Given the description of an element on the screen output the (x, y) to click on. 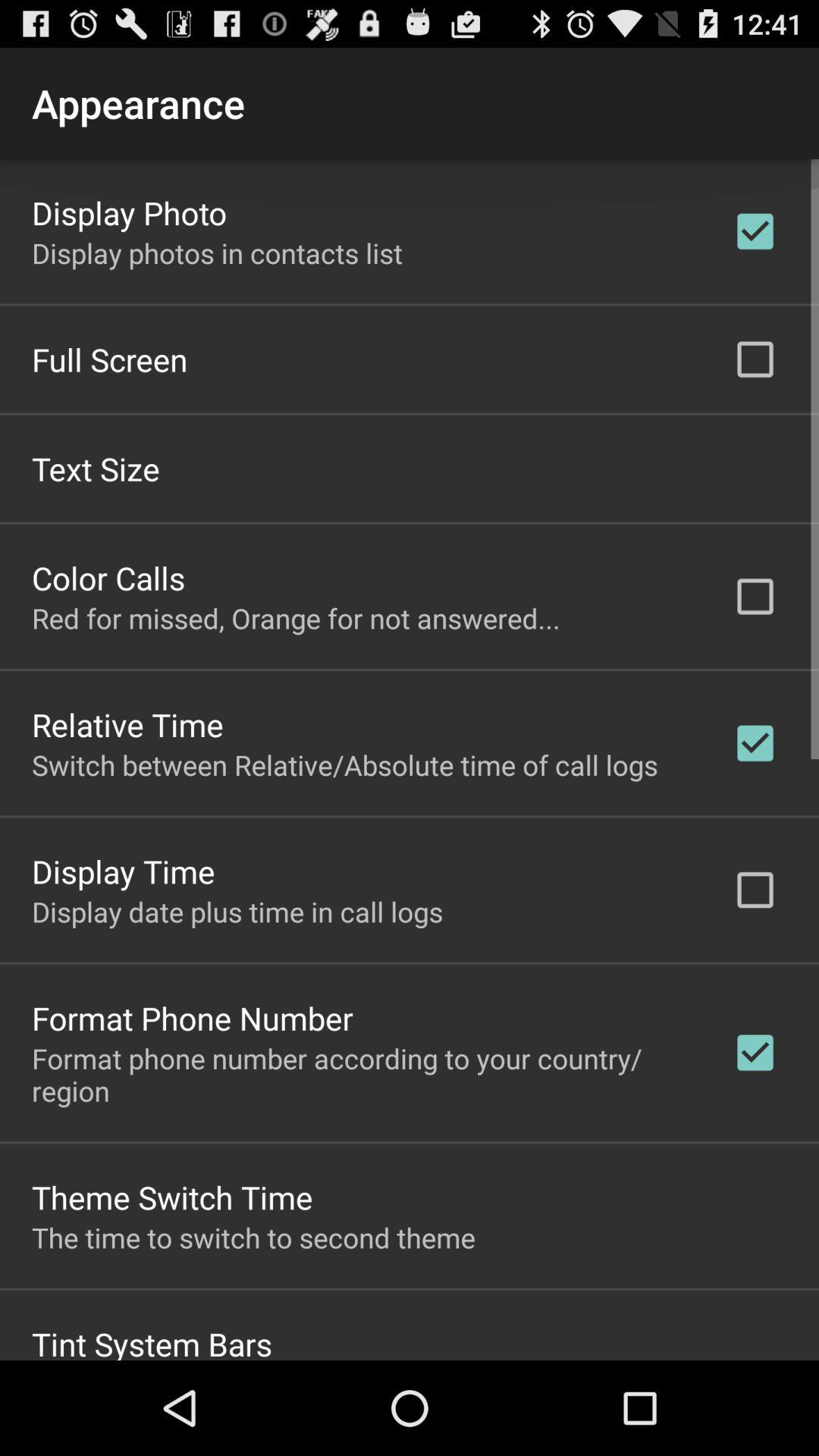
press full screen app (109, 358)
